Given the description of an element on the screen output the (x, y) to click on. 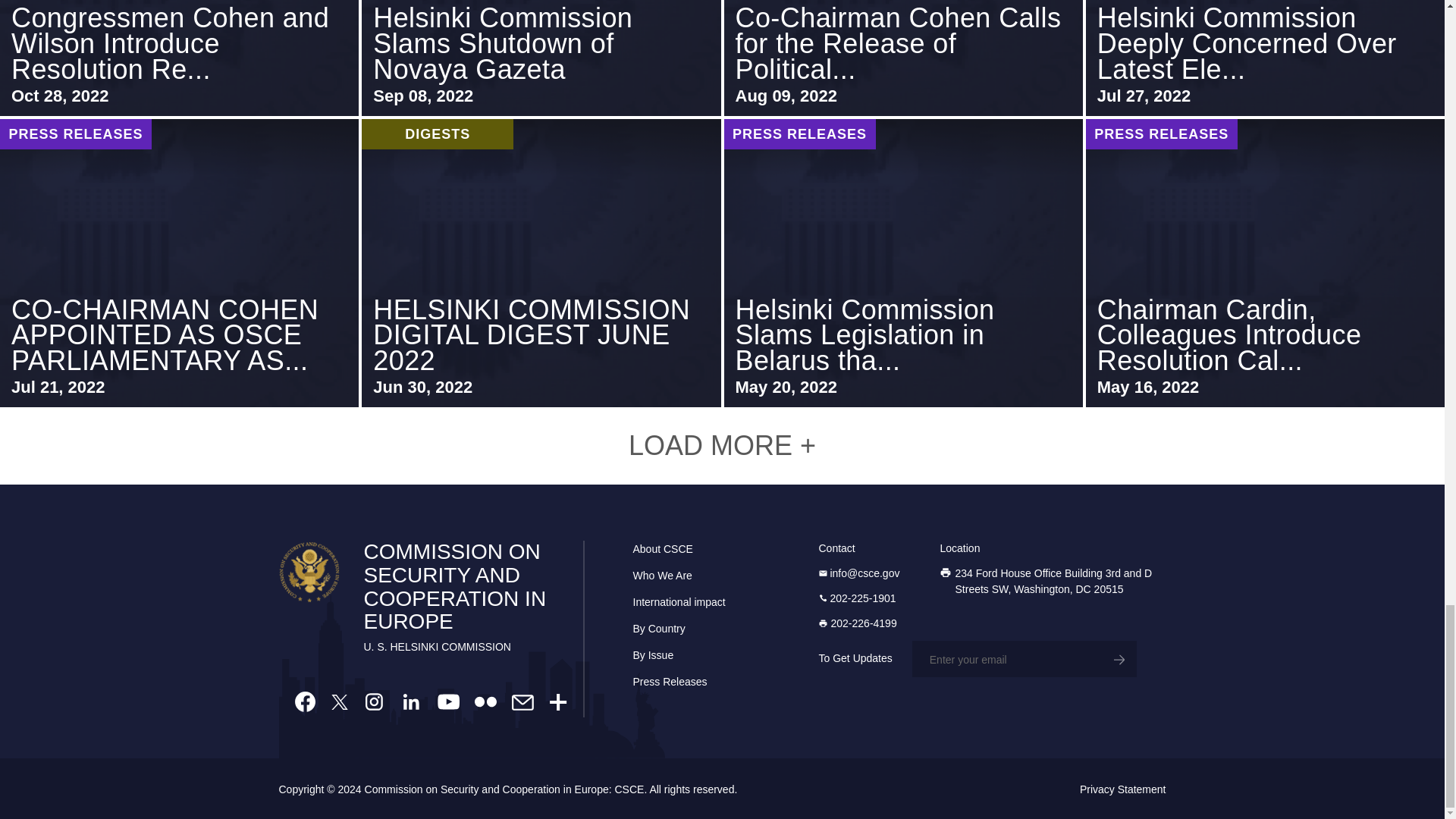
Submit (1118, 658)
